Given the description of an element on the screen output the (x, y) to click on. 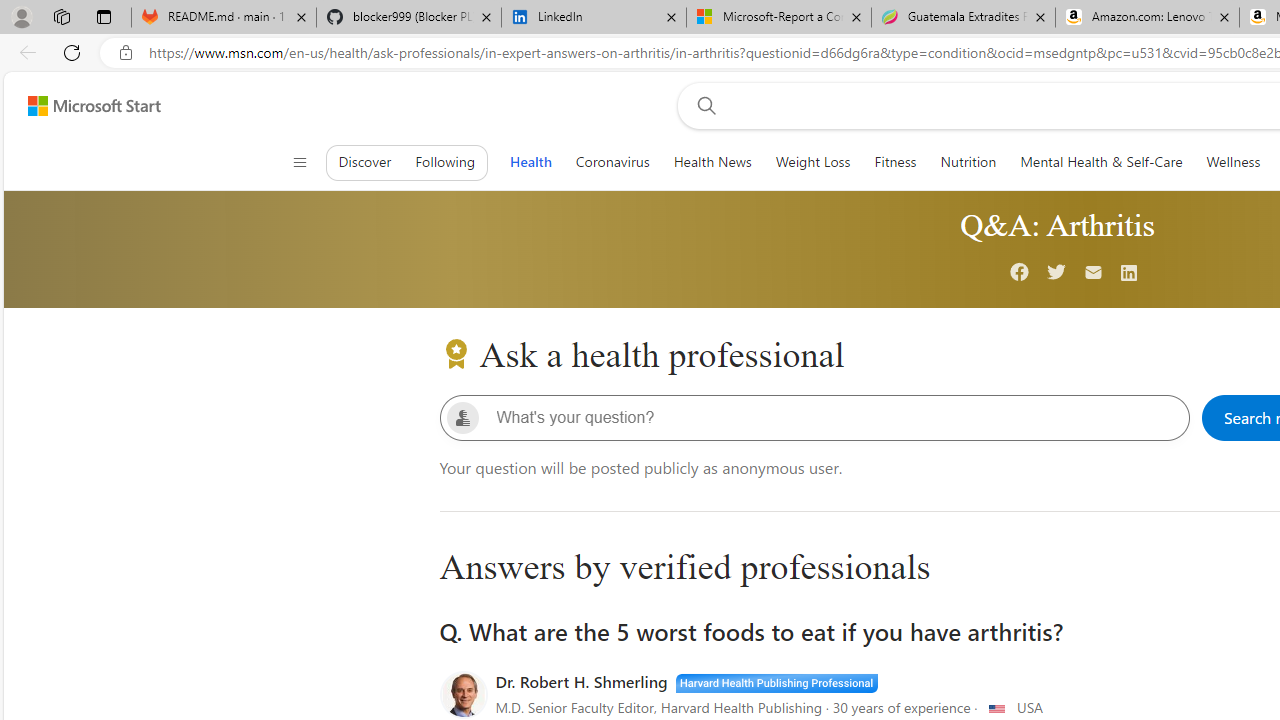
Linkedin (1129, 273)
Harvard health publishing professional (776, 681)
